Given the description of an element on the screen output the (x, y) to click on. 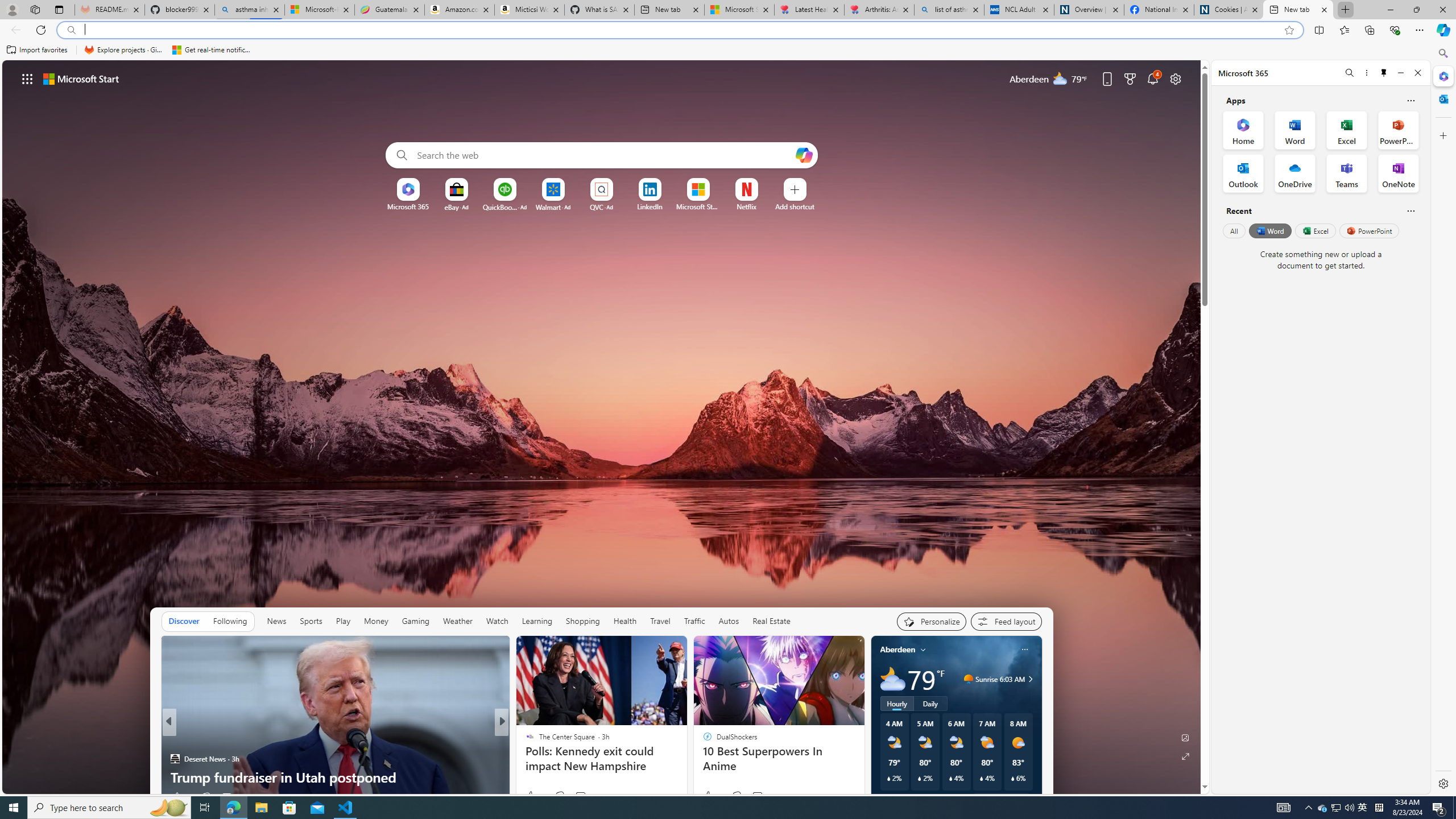
View comments 88 Comment (585, 796)
OneNote Office App (1398, 172)
View comments 5 Comment (576, 797)
View comments 5 Comment (580, 796)
Business Insider (524, 740)
PowerPoint (1369, 230)
13 Beautiful Muscle Cars Most People Probably Never Heard Of (335, 767)
View comments 226 Comment (583, 796)
My location (922, 649)
